Given the description of an element on the screen output the (x, y) to click on. 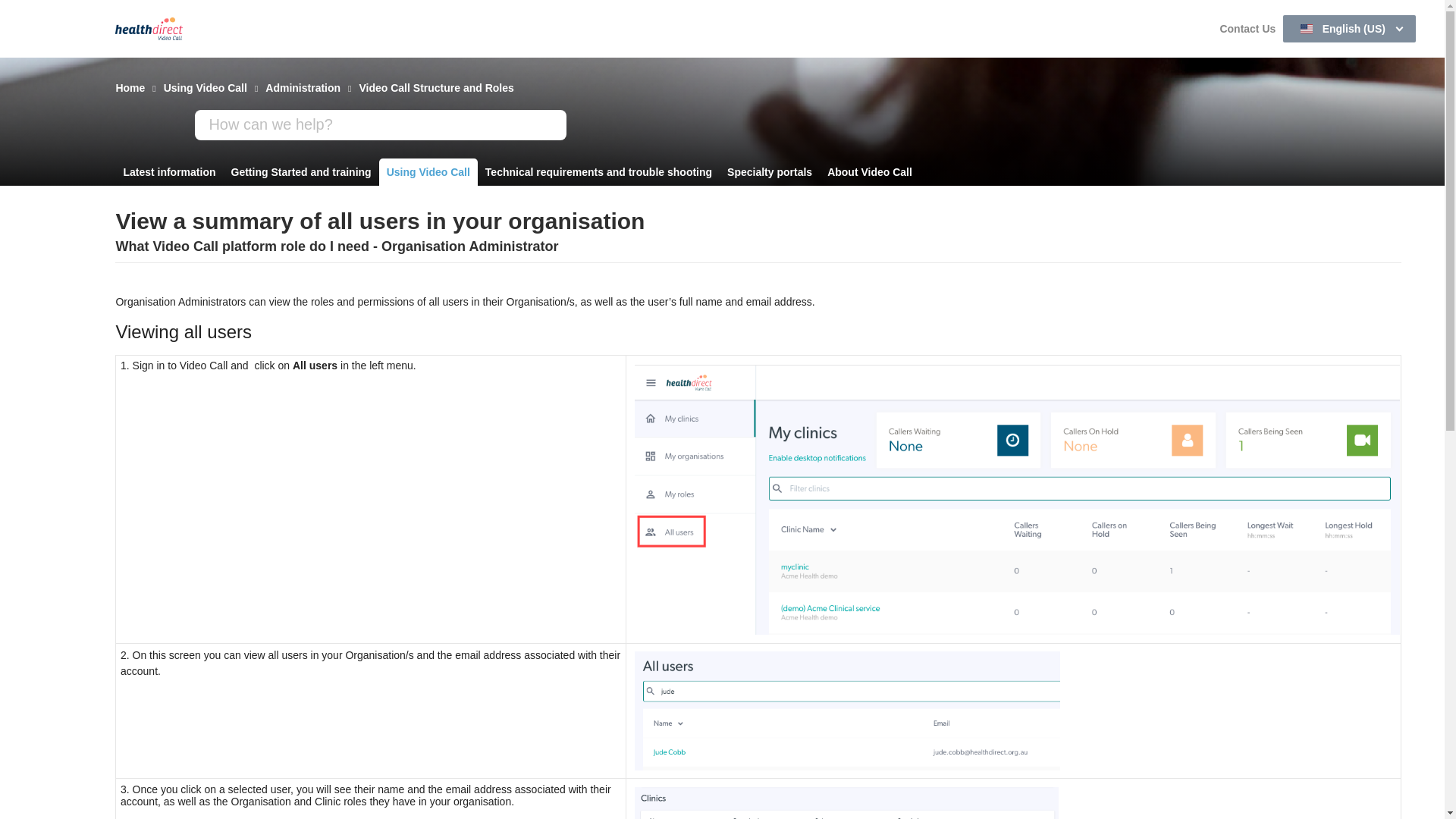
Contact Us (1247, 28)
